Given the description of an element on the screen output the (x, y) to click on. 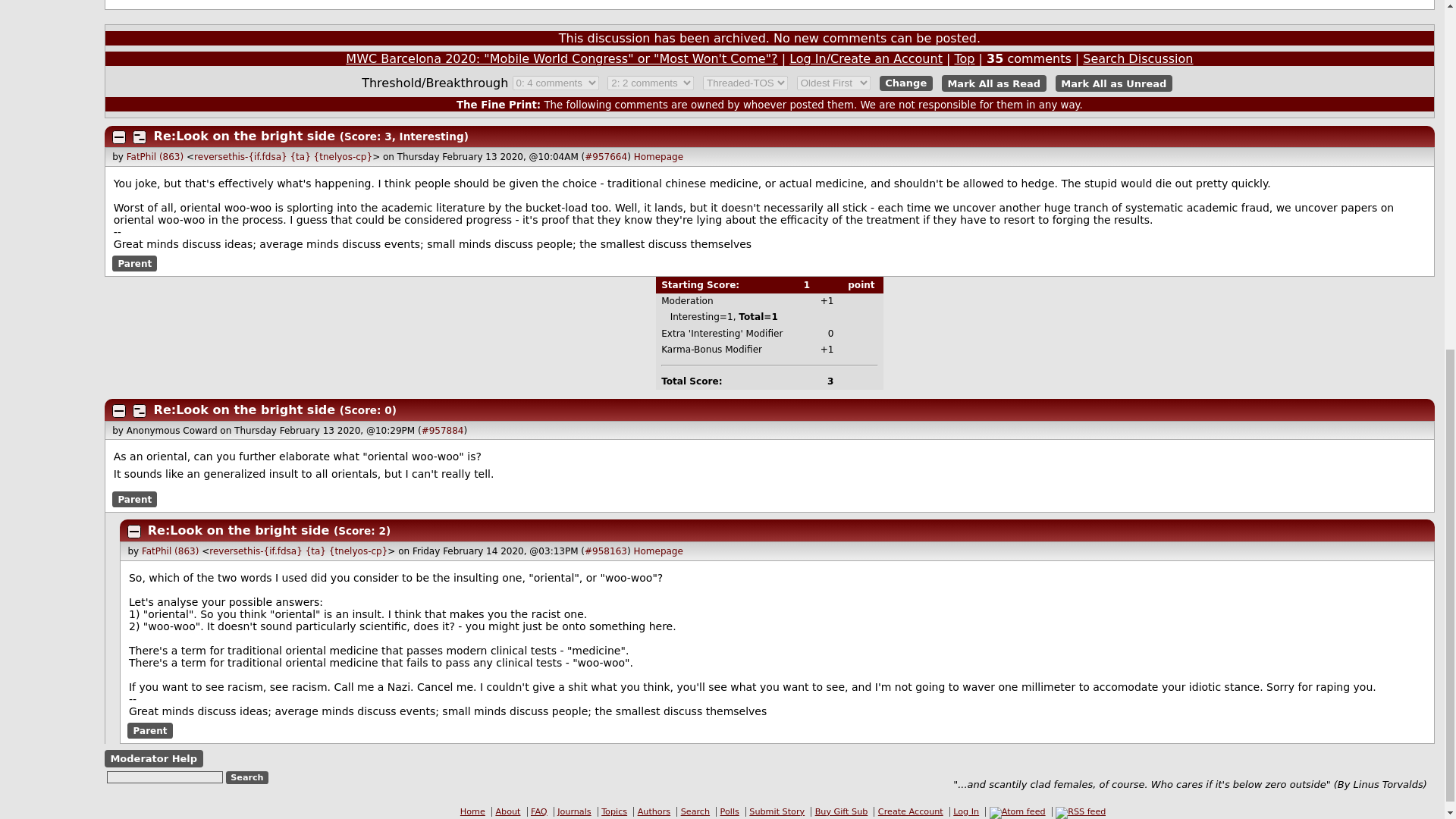
Search (247, 777)
Change (906, 83)
